Given the description of an element on the screen output the (x, y) to click on. 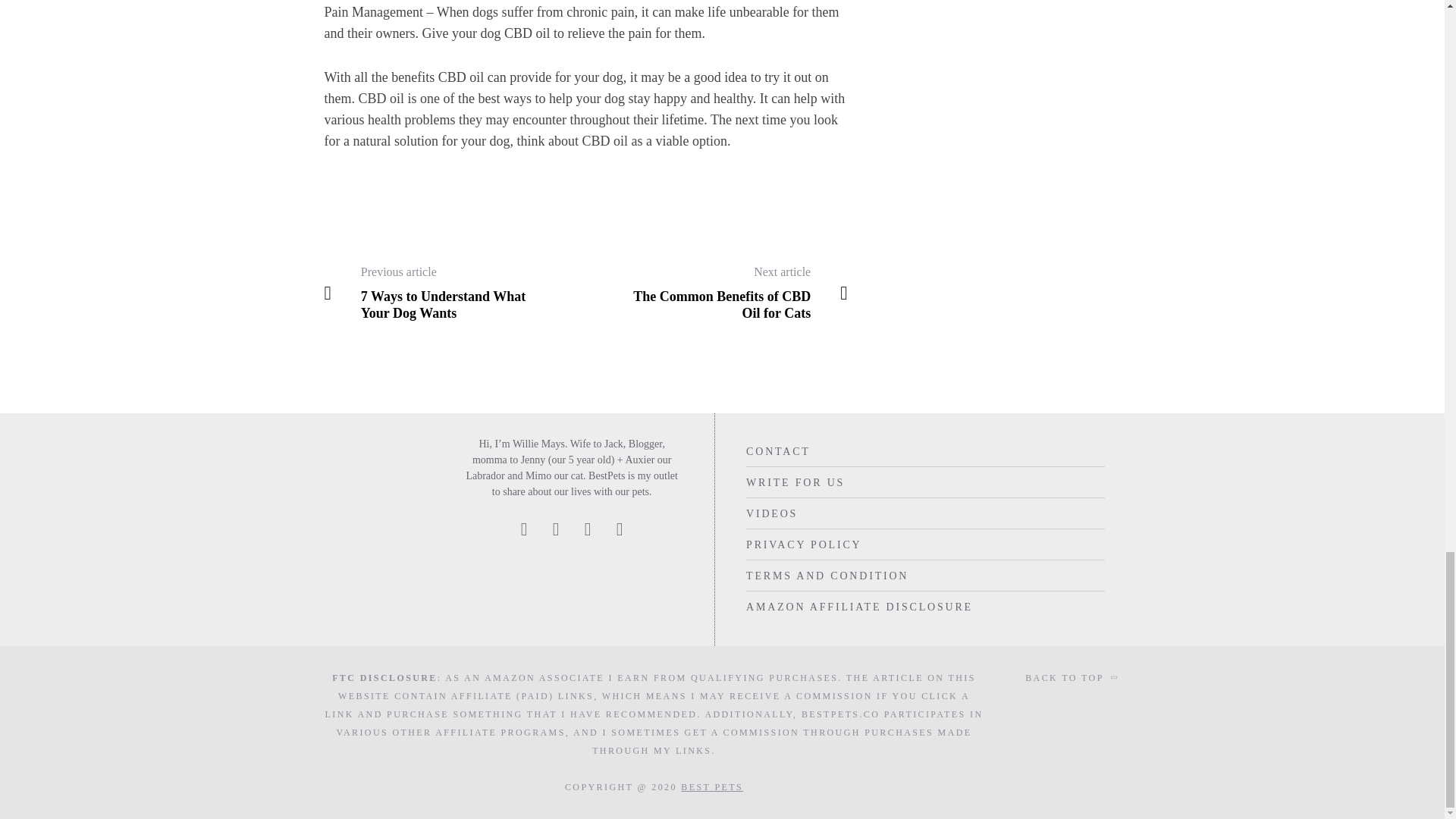
TERMS AND CONDITION (826, 575)
BEST PETS (711, 787)
AMAZON AFFILIATE DISCLOSURE (858, 606)
BACK TO TOP (1072, 678)
